Given the description of an element on the screen output the (x, y) to click on. 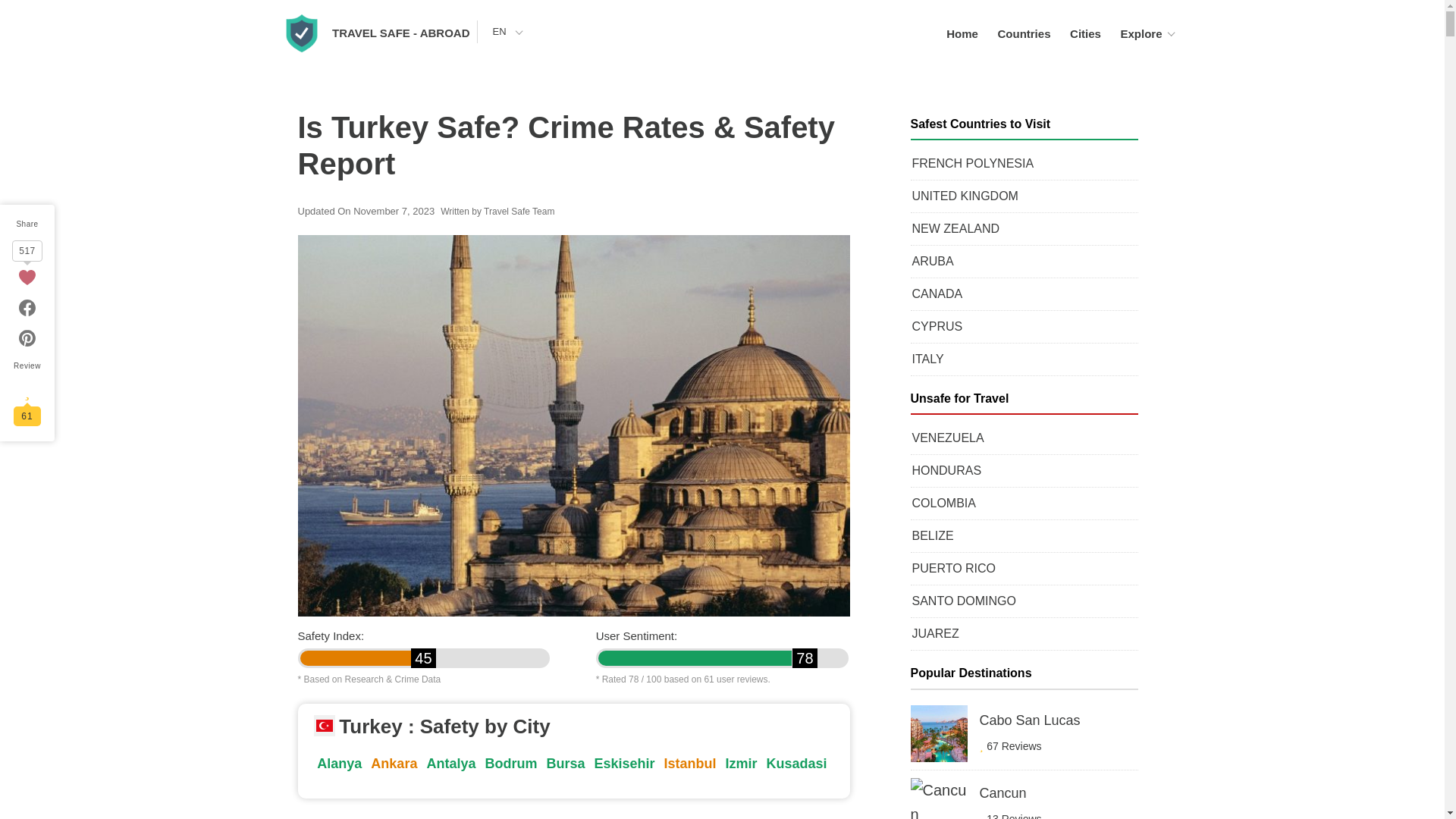
Antalya (451, 763)
Eskisehir (624, 763)
Bodrum (510, 763)
Ankara Safety Review (394, 763)
Bursa Safety Review (565, 763)
Kusadasi (795, 763)
Izmir Safety Review (741, 763)
Countries (1023, 33)
Istanbul Safety Review (690, 763)
Bodrum Safety Review (510, 763)
Alanya Safety Review (339, 763)
Antalya Safety Review (451, 763)
Ankara (394, 763)
Explore (1140, 33)
